Given the description of an element on the screen output the (x, y) to click on. 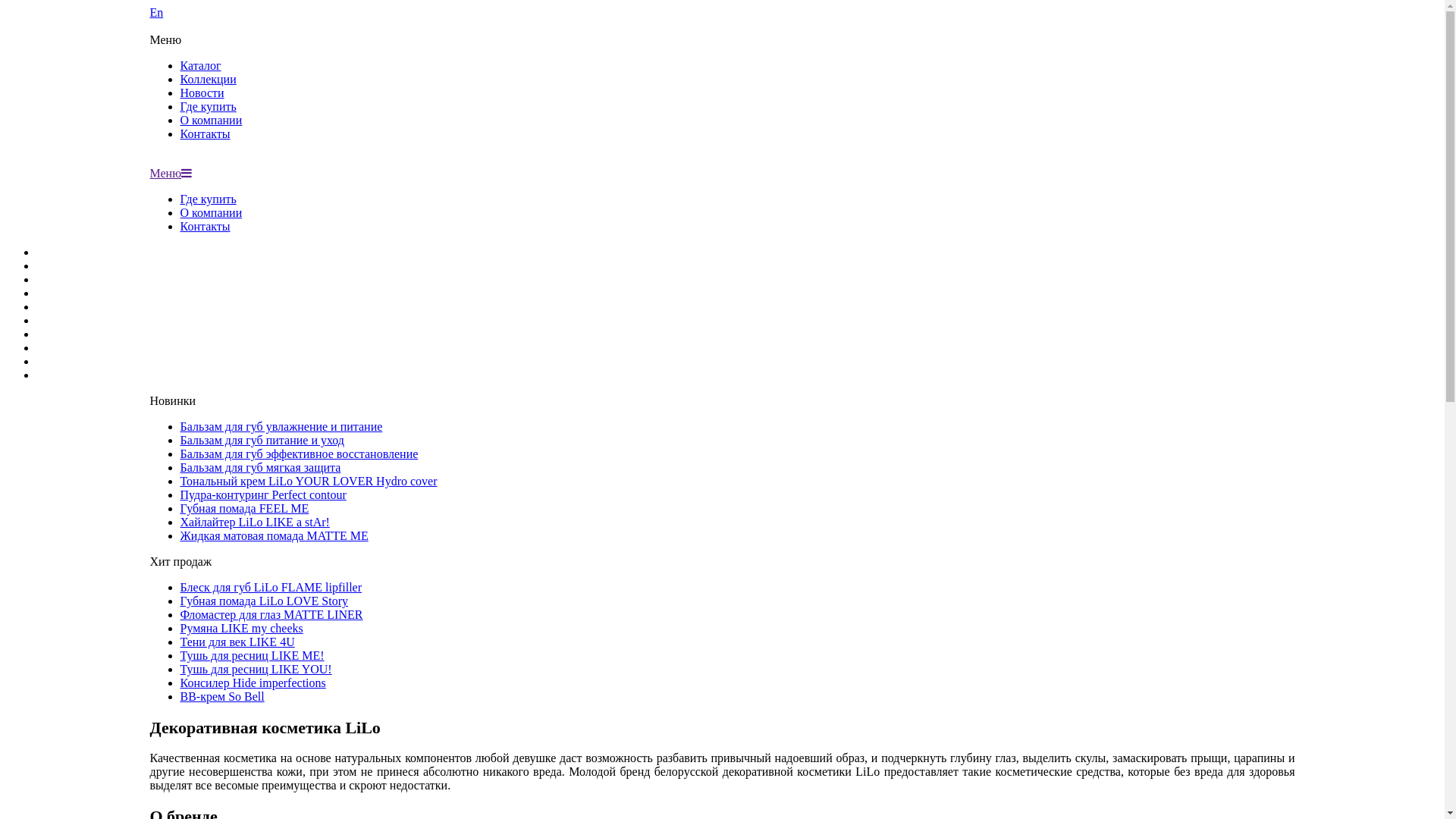
En Element type: text (722, 19)
